Given the description of an element on the screen output the (x, y) to click on. 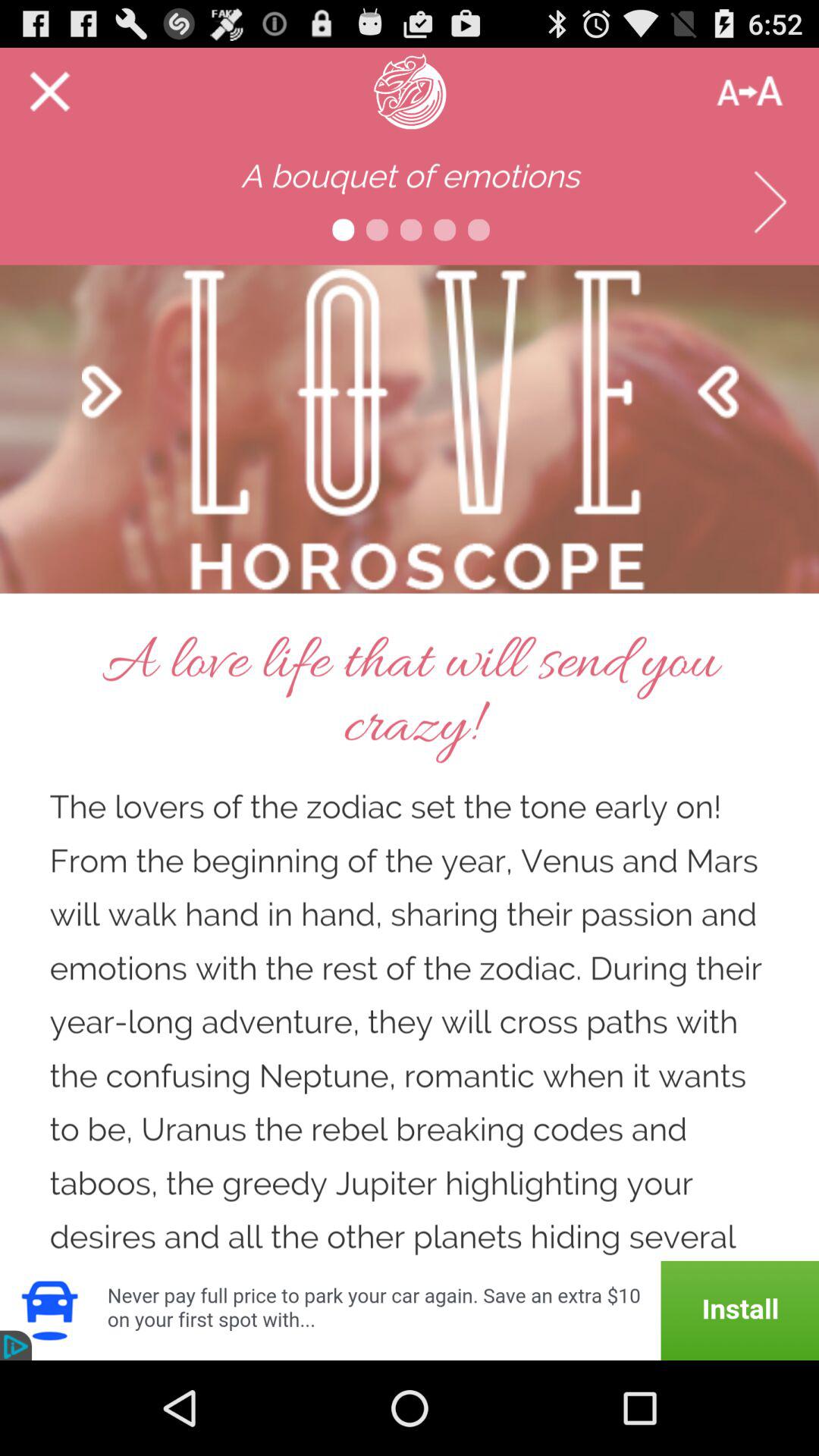
advertisement page (409, 653)
